Given the description of an element on the screen output the (x, y) to click on. 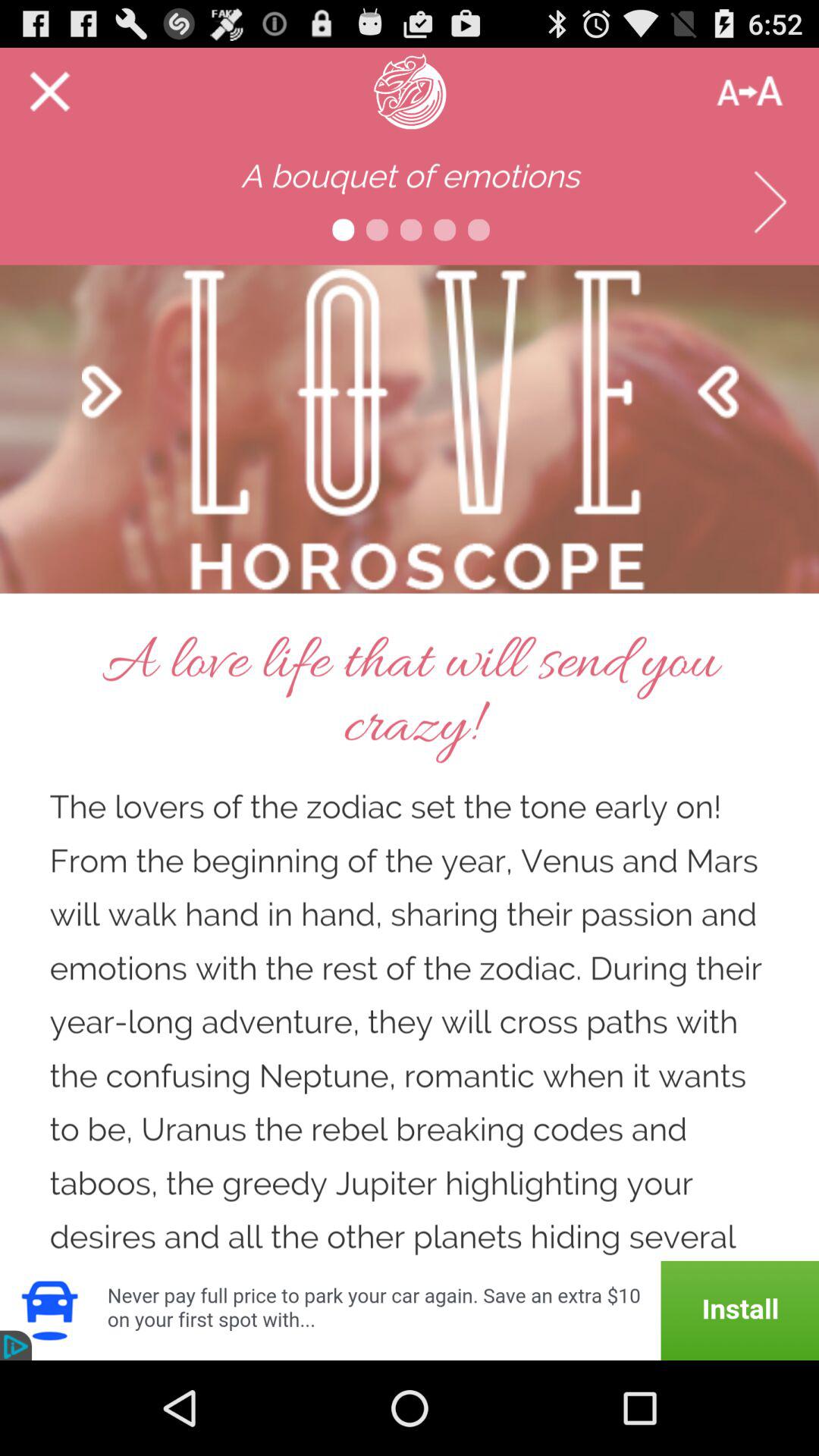
advertisement page (409, 653)
